Given the description of an element on the screen output the (x, y) to click on. 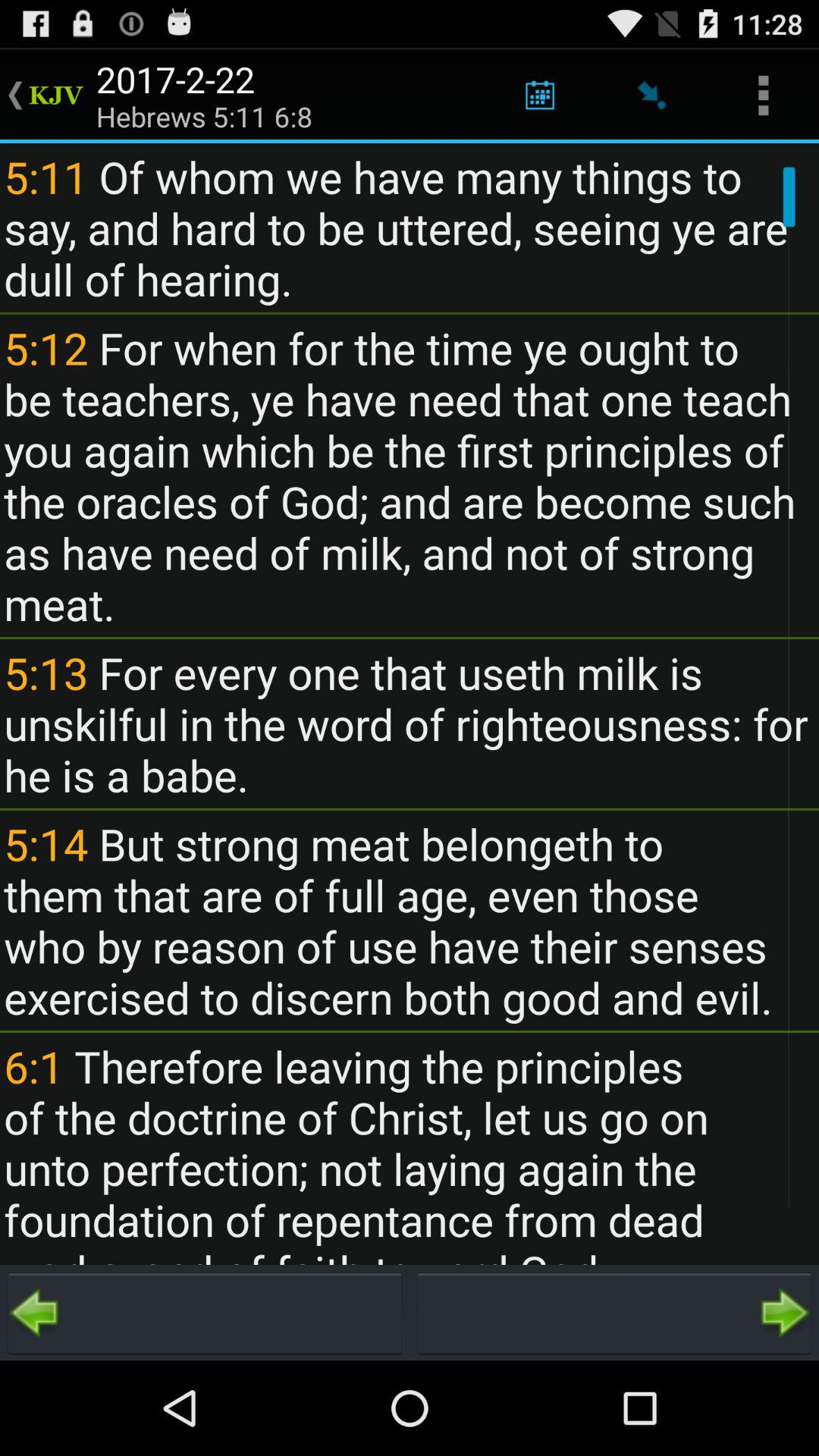
select app above 5 11 of (540, 95)
